Given the description of an element on the screen output the (x, y) to click on. 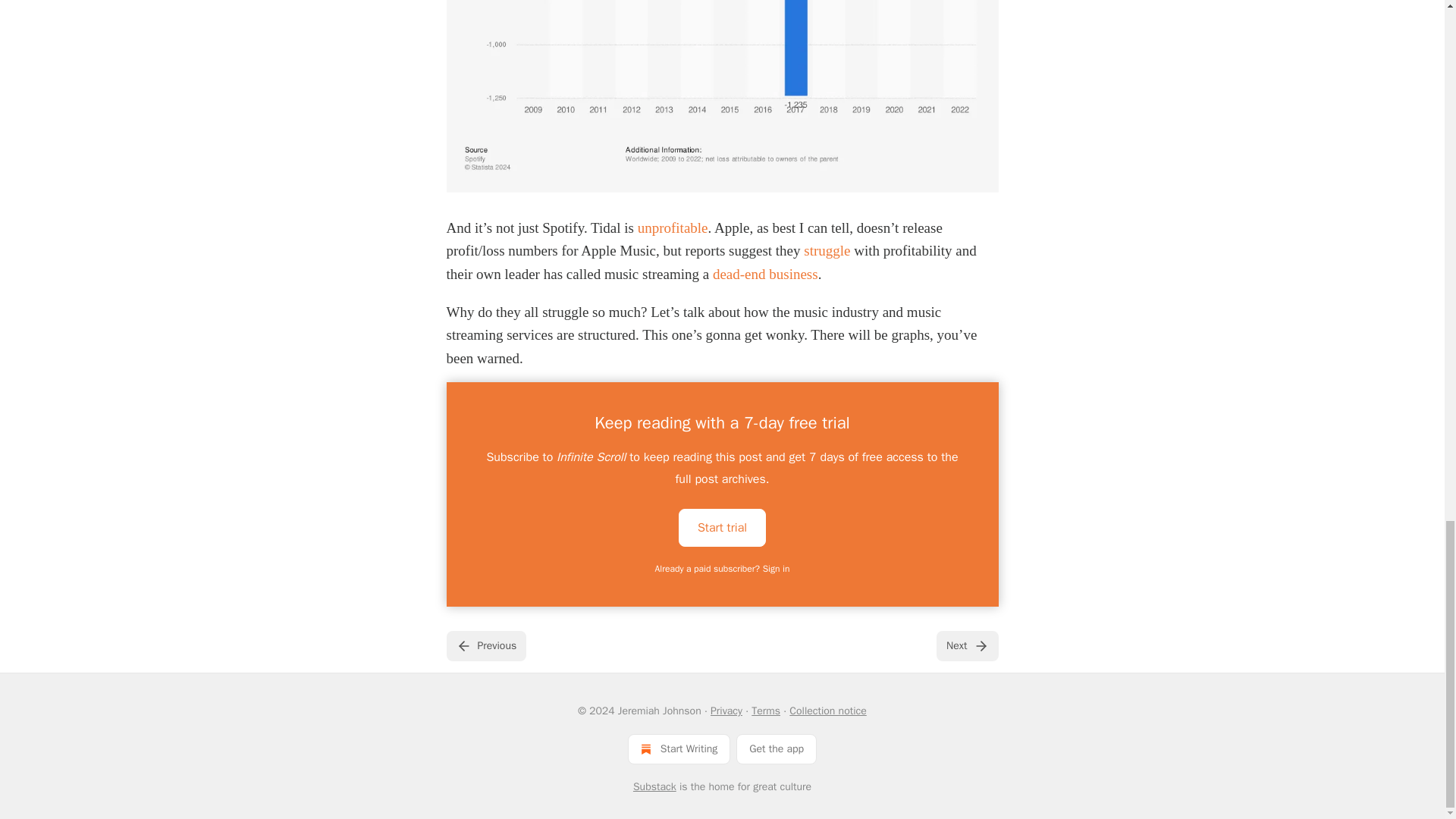
Already a paid subscriber? Sign in (722, 568)
Collection notice (827, 710)
Get the app (776, 748)
Start trial (721, 526)
unprofitable (672, 227)
Next (966, 645)
Substack (655, 786)
struggle (826, 250)
Start trial (721, 527)
Previous (485, 645)
